Given the description of an element on the screen output the (x, y) to click on. 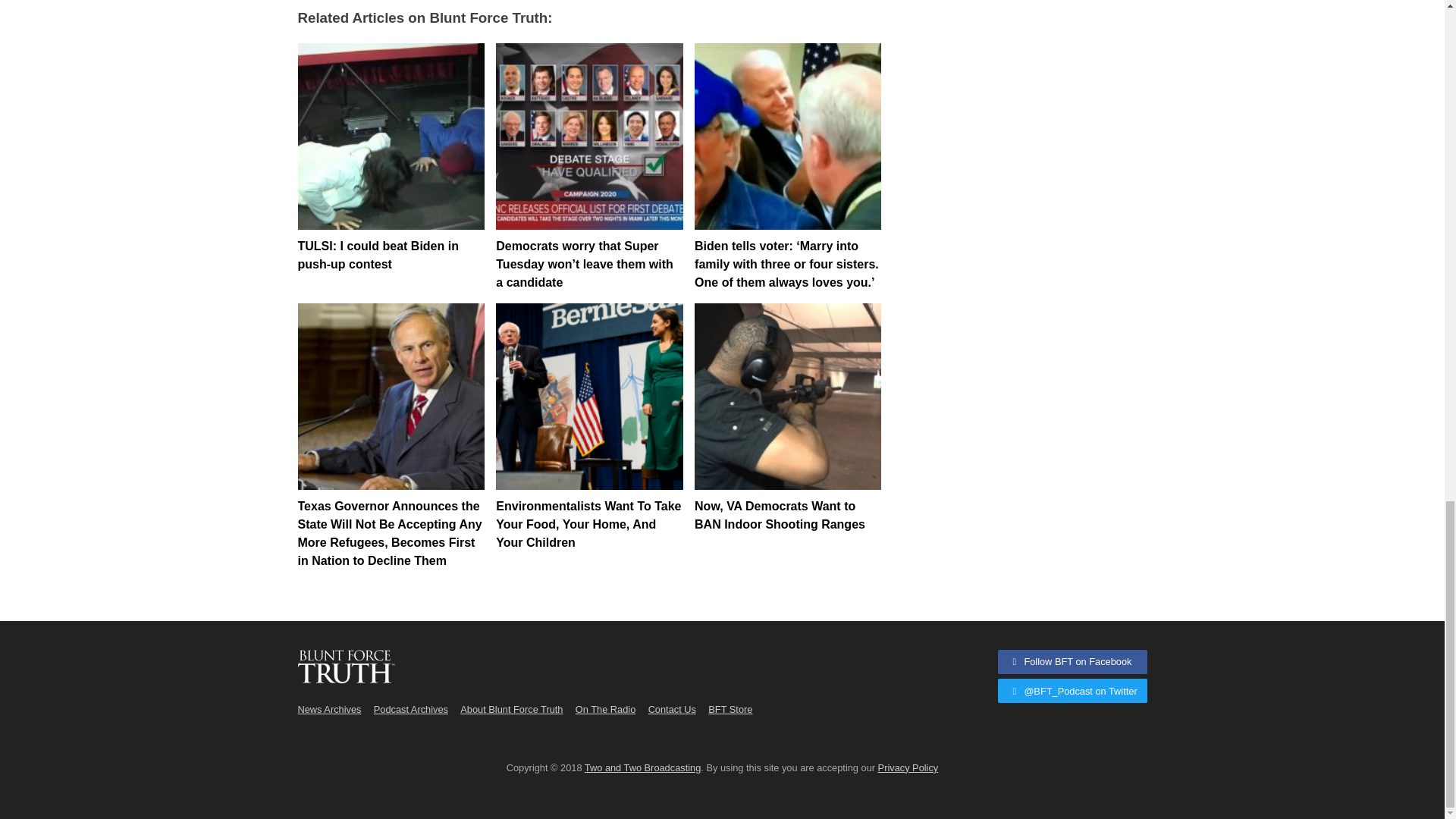
Privacy Policy (908, 767)
News Archives (329, 708)
Two and Two Broadcasting (642, 767)
Follow BFT on Facebook (1072, 662)
On The Radio (604, 708)
Now, VA Democrats Want to BAN Indoor Shooting Ranges (787, 396)
About Blunt Force Truth (511, 708)
Podcast Archives (411, 708)
BFT Store (729, 708)
